Given the description of an element on the screen output the (x, y) to click on. 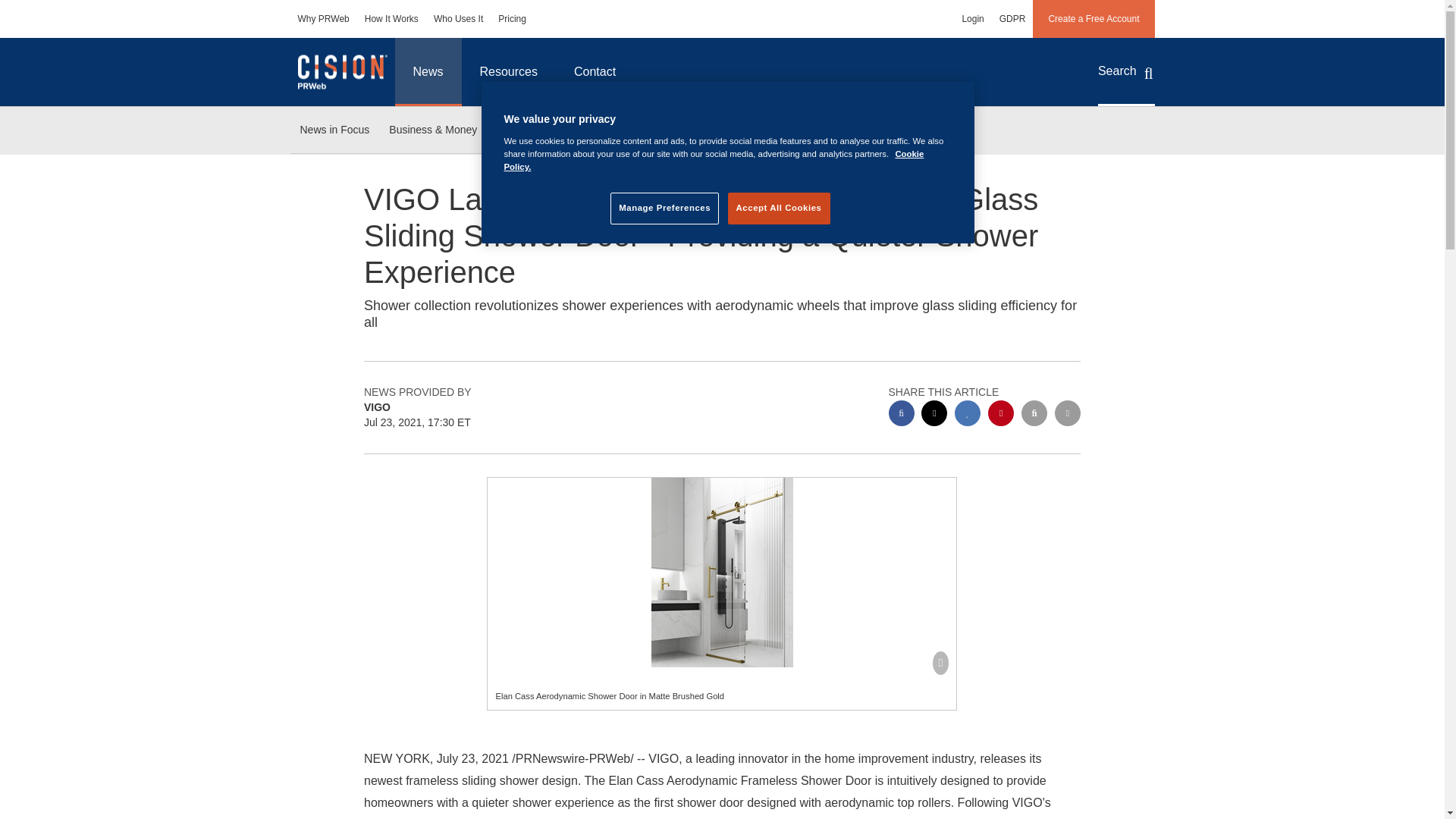
Elan Cass Aerodynamic Shower Door in Matte Brushed Gold (721, 572)
News in Focus (333, 130)
